Given the description of an element on the screen output the (x, y) to click on. 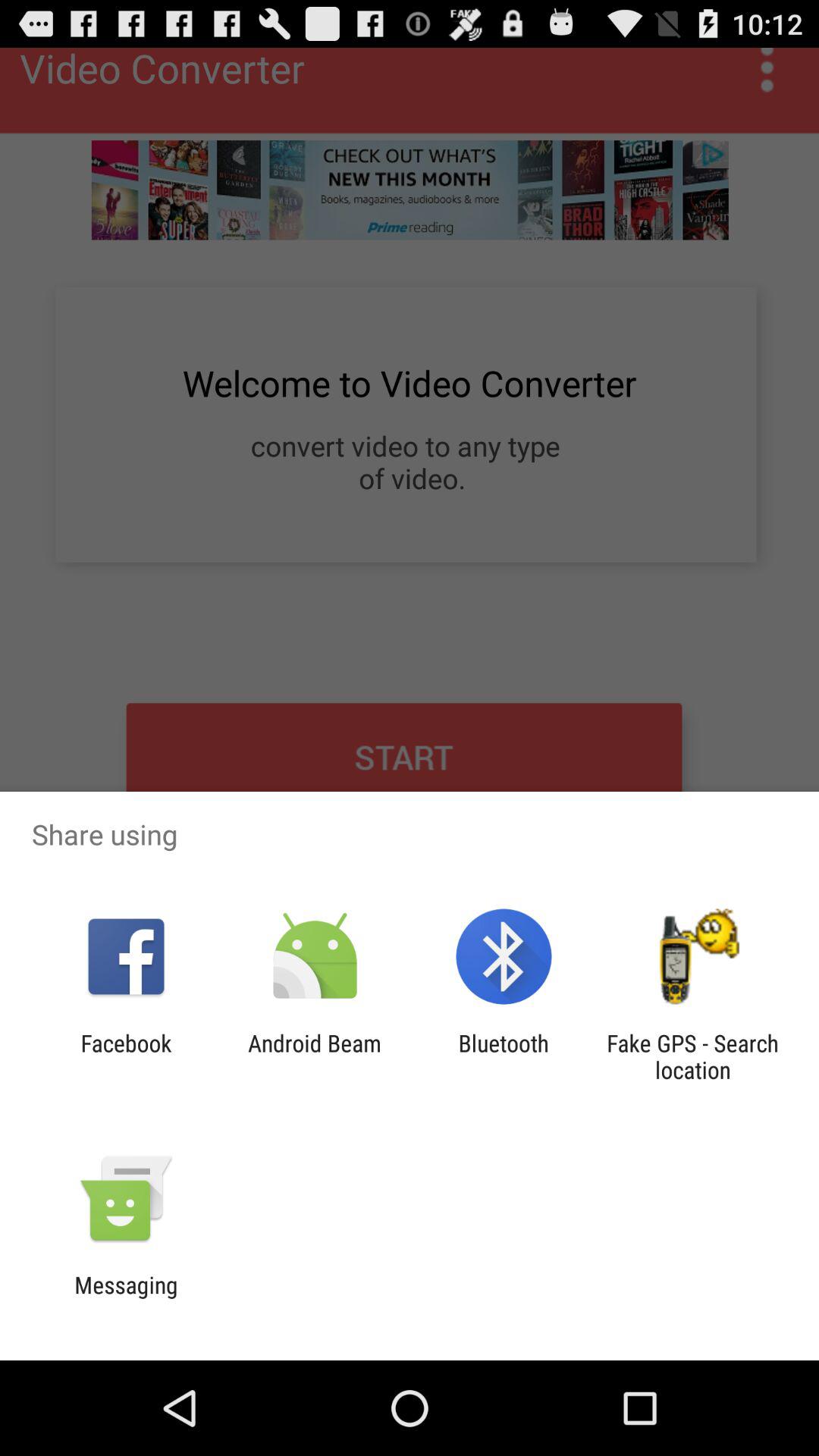
turn off facebook (125, 1056)
